Given the description of an element on the screen output the (x, y) to click on. 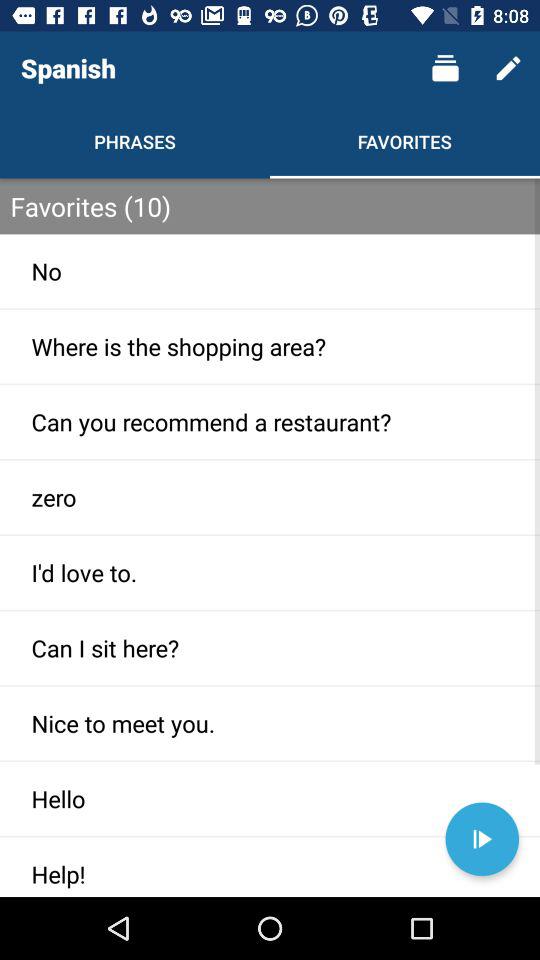
open the icon to the right of spanish icon (444, 67)
